Given the description of an element on the screen output the (x, y) to click on. 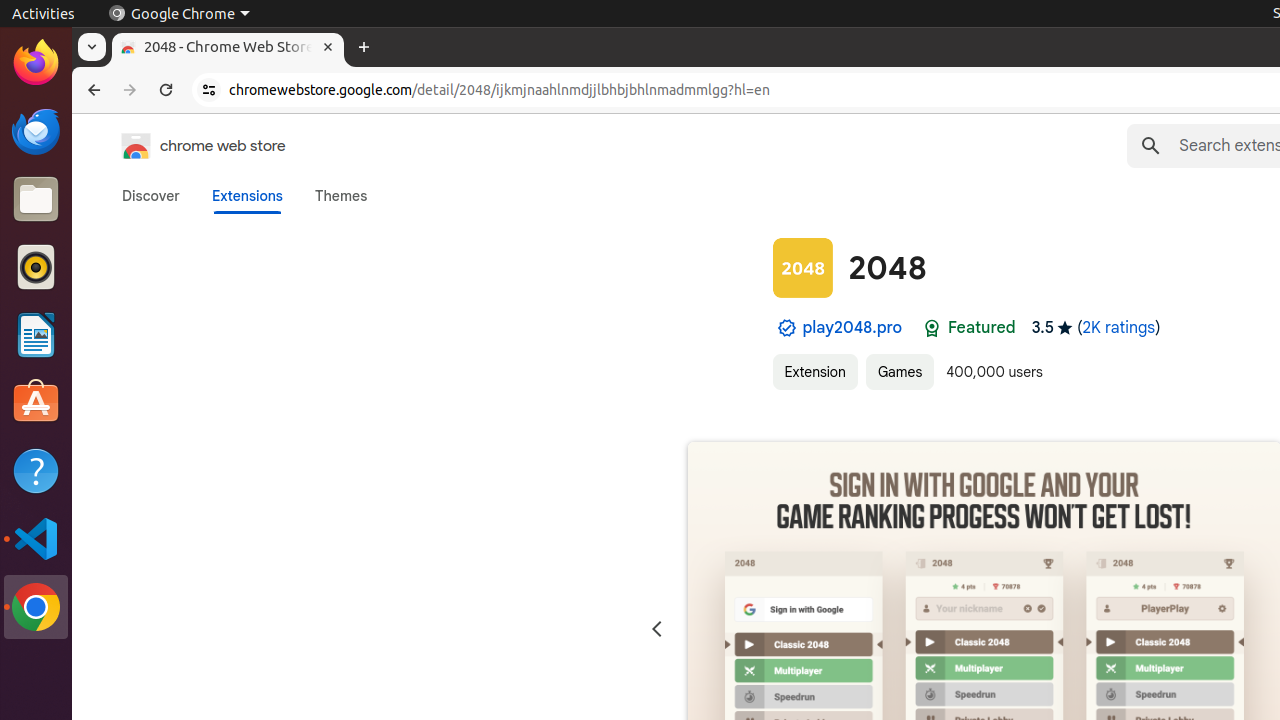
Thunderbird Mail Element type: push-button (36, 131)
Ubuntu Software Element type: push-button (36, 402)
Featured Badge Element type: push-button (932, 328)
New Tab Element type: push-button (364, 47)
play2048.pro Element type: link (852, 328)
